Given the description of an element on the screen output the (x, y) to click on. 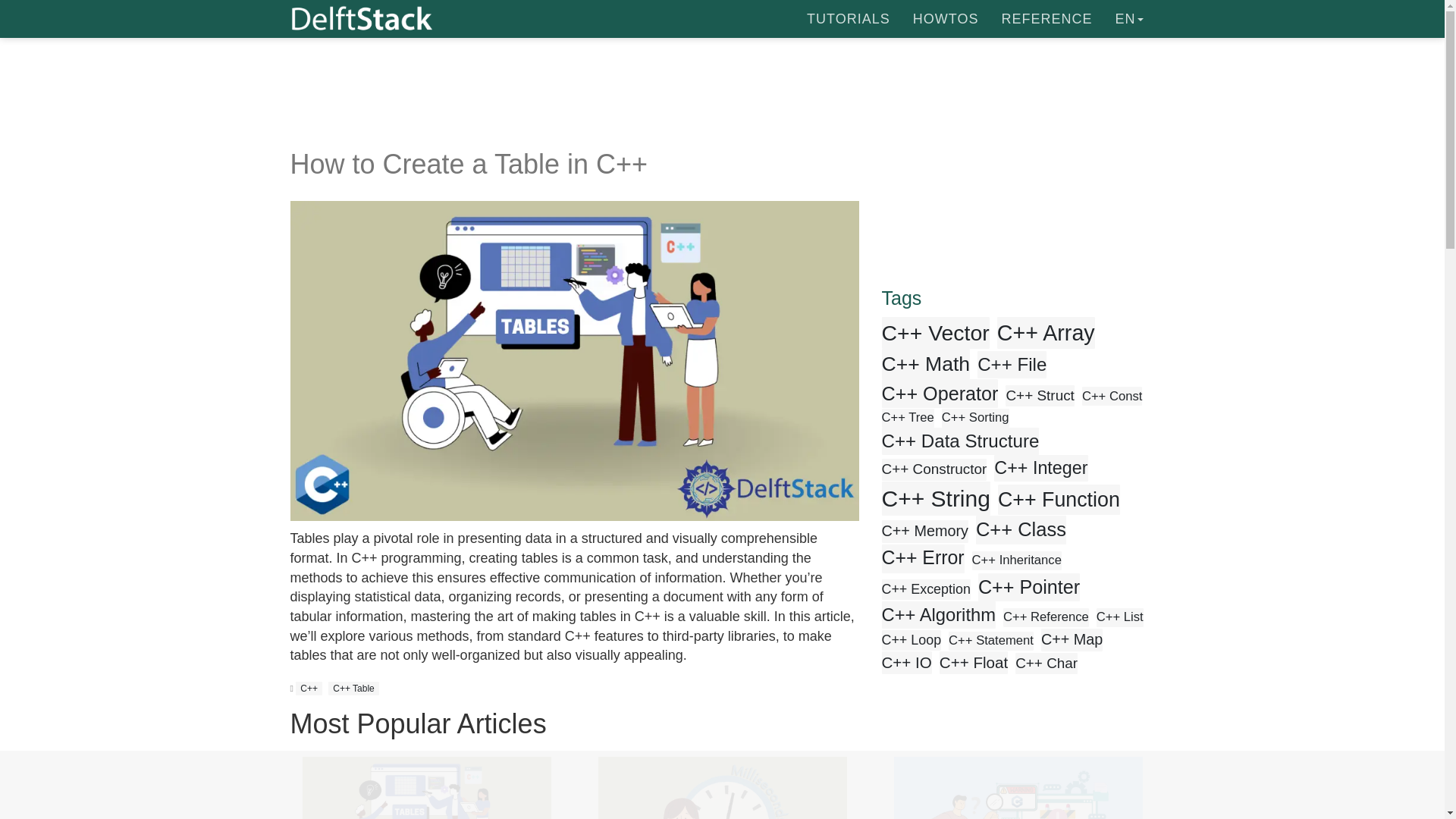
HOWTOS (945, 18)
TUTORIALS (847, 18)
REFERENCE (1046, 18)
Tags (1017, 205)
EN (1128, 18)
